Given the description of an element on the screen output the (x, y) to click on. 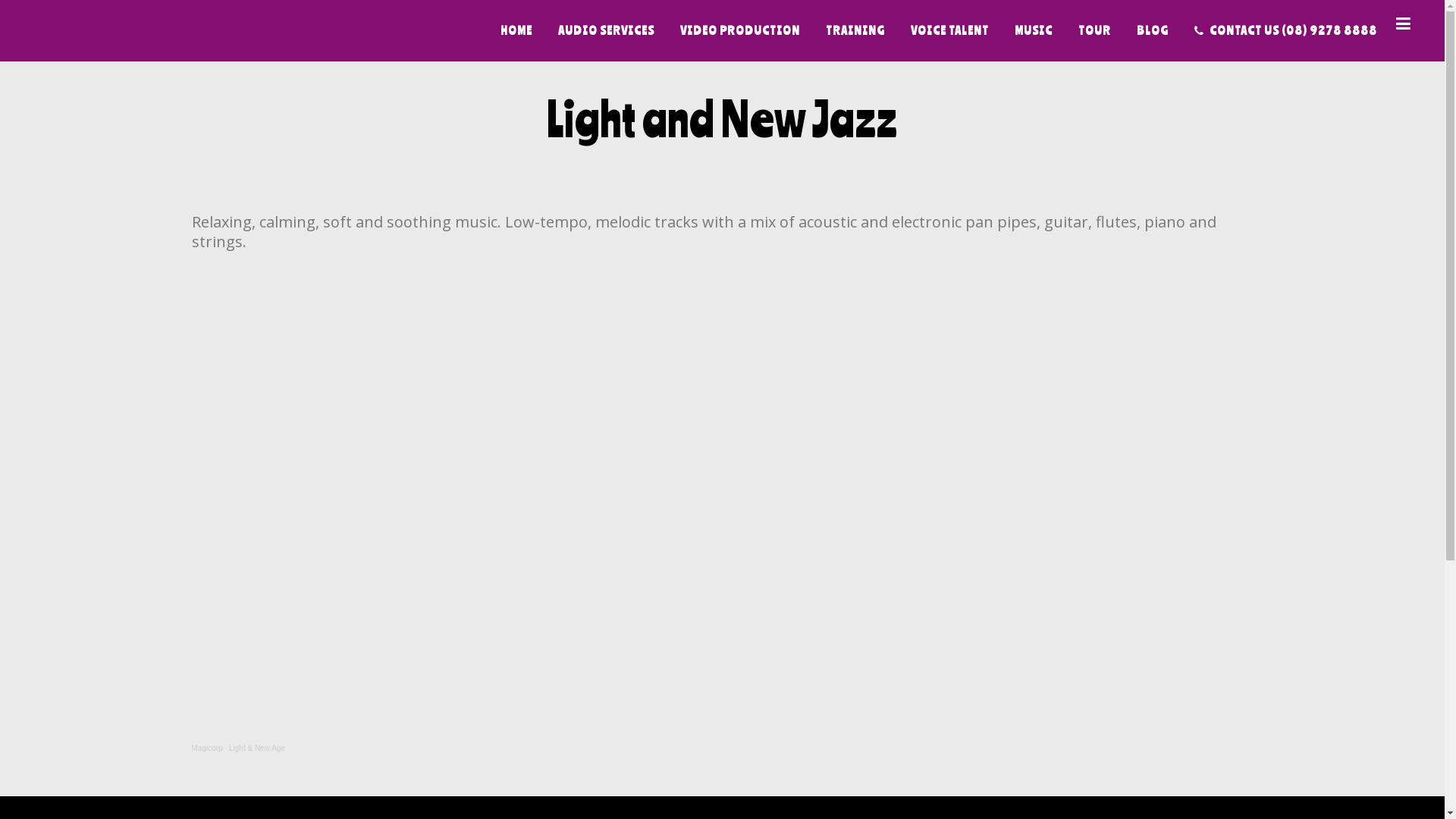
TOUR Element type: text (1094, 30)
Magicorp Element type: text (206, 747)
CONTACT US (08) 9278 8888 Element type: text (1285, 30)
VIDEO PRODUCTION Element type: text (739, 30)
AUDIO SERVICES Element type: text (606, 30)
HOME Element type: text (516, 30)
TRAINING Element type: text (854, 30)
BLOG Element type: text (1152, 30)
VOICE TALENT Element type: text (949, 30)
Light & New Age Element type: text (257, 747)
MUSIC Element type: text (1033, 30)
